Given the description of an element on the screen output the (x, y) to click on. 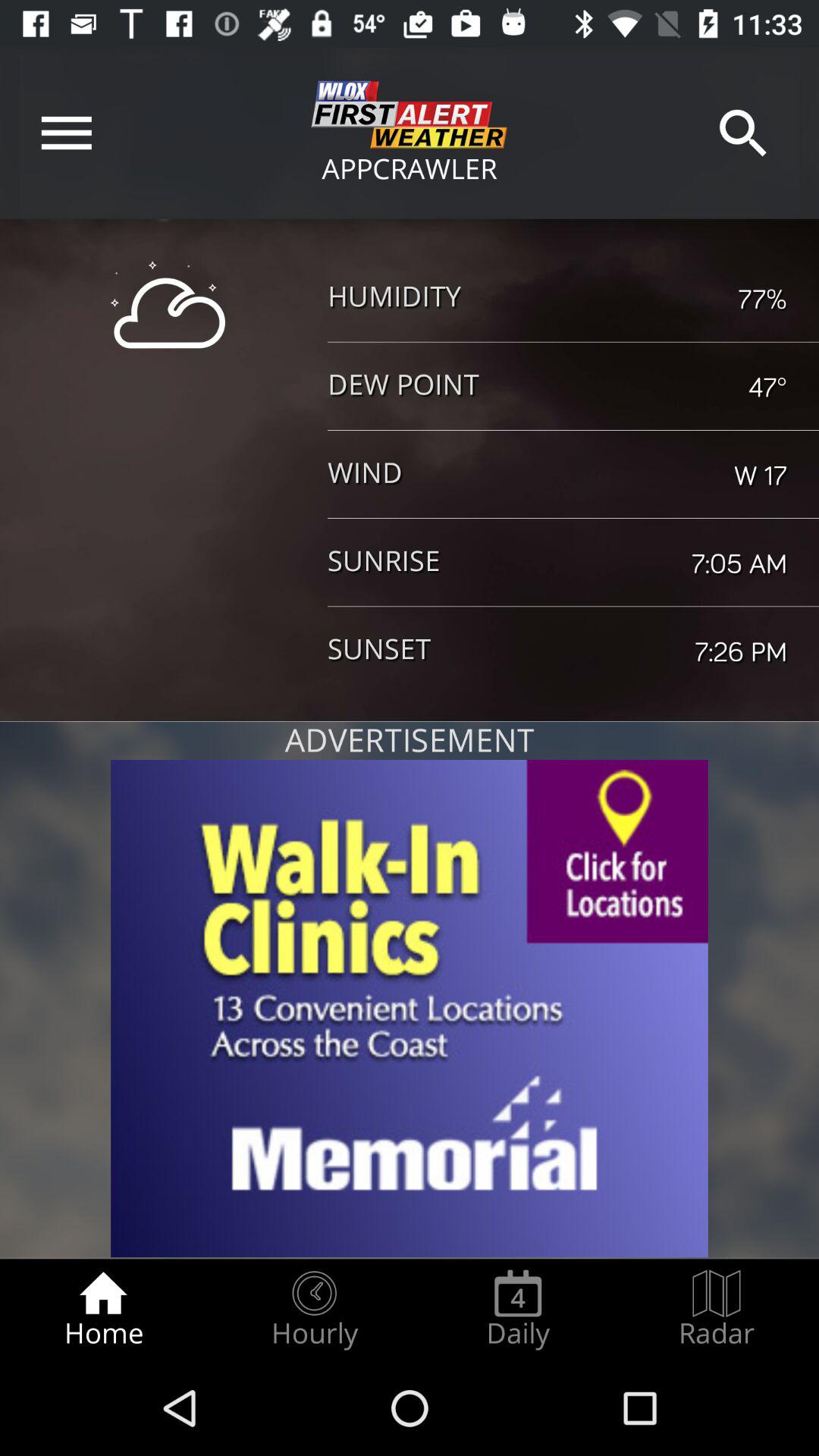
turn on radar item (716, 1309)
